Given the description of an element on the screen output the (x, y) to click on. 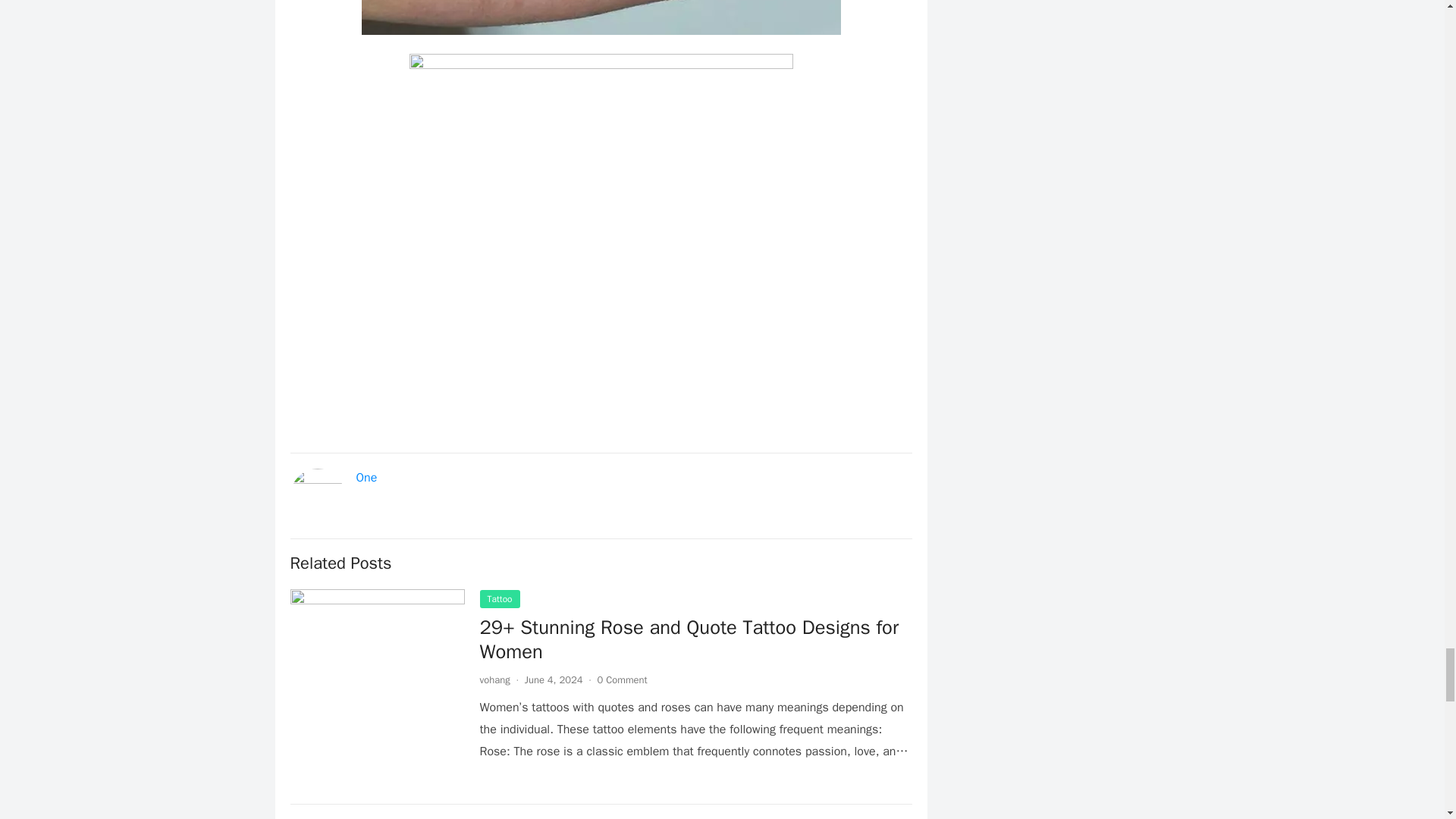
vohang (494, 679)
Tattoo (499, 598)
0 Comment (621, 679)
Posts by vohang (494, 679)
One (366, 477)
